Given the description of an element on the screen output the (x, y) to click on. 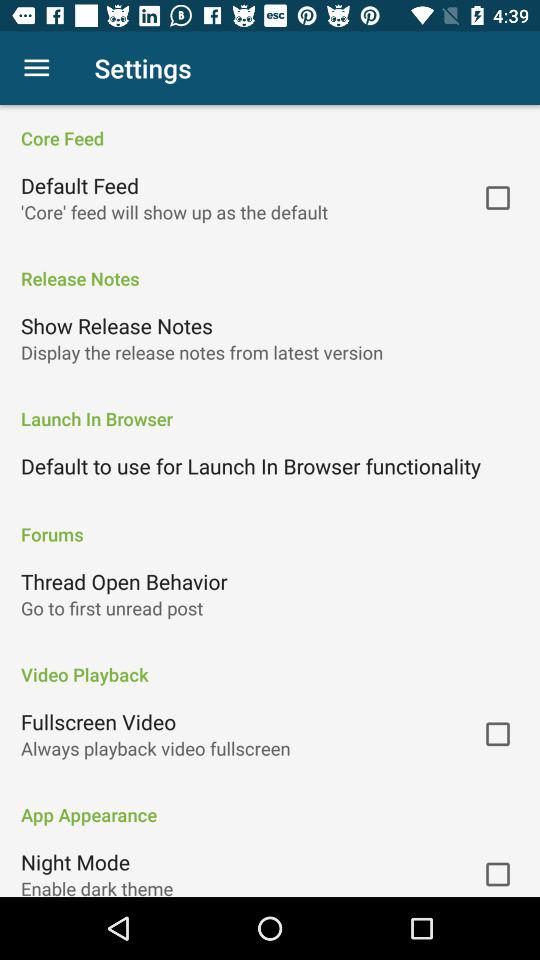
swipe until default to use (251, 465)
